Given the description of an element on the screen output the (x, y) to click on. 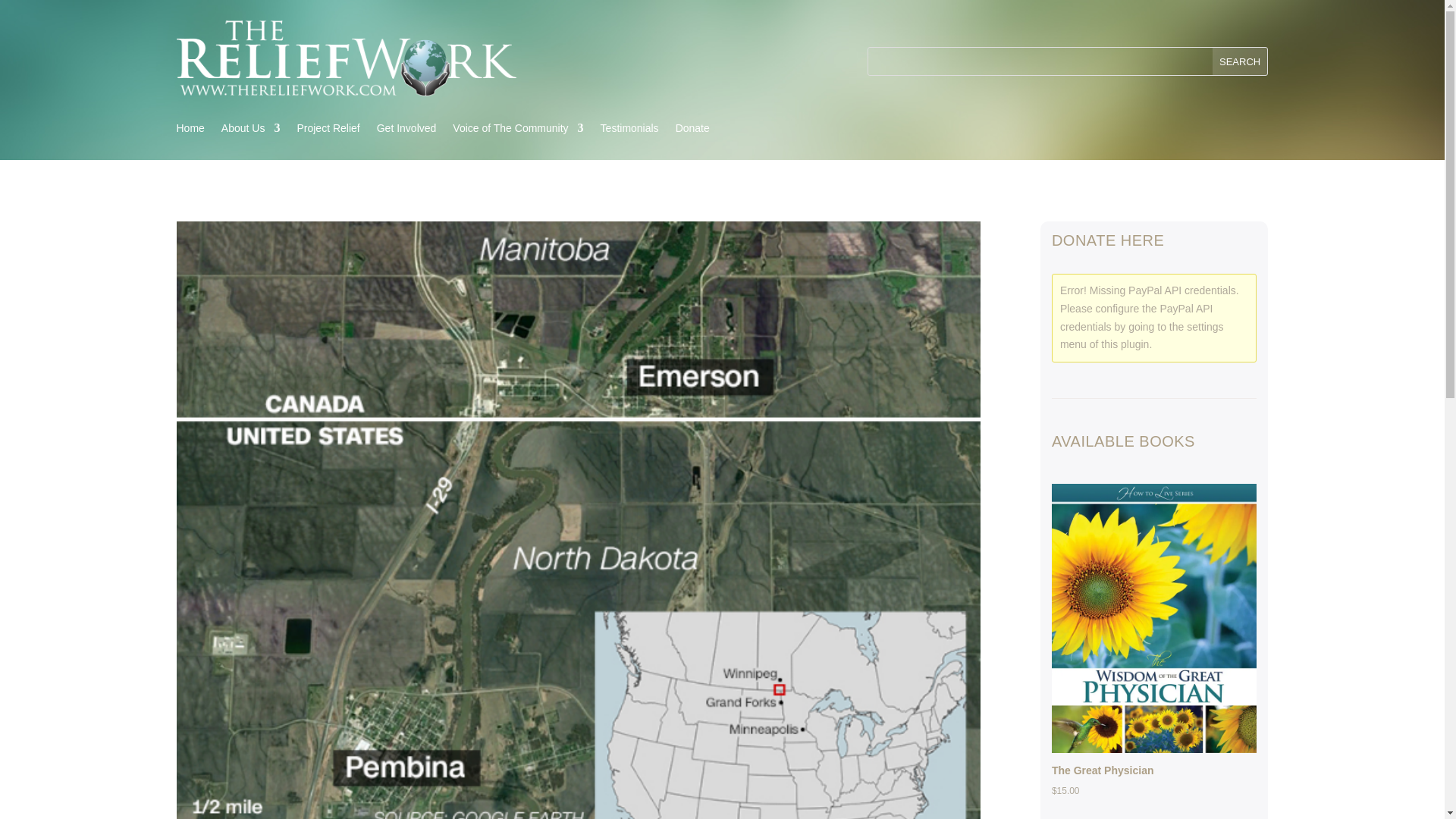
Search (1240, 61)
Voice of The Community (517, 130)
Get Involved (406, 130)
The Relief Work Logo (345, 58)
Home (189, 130)
Donate (692, 130)
Project Relief (328, 130)
About Us (251, 130)
Search (1240, 61)
Testimonials (629, 130)
Search (1240, 61)
